Given the description of an element on the screen output the (x, y) to click on. 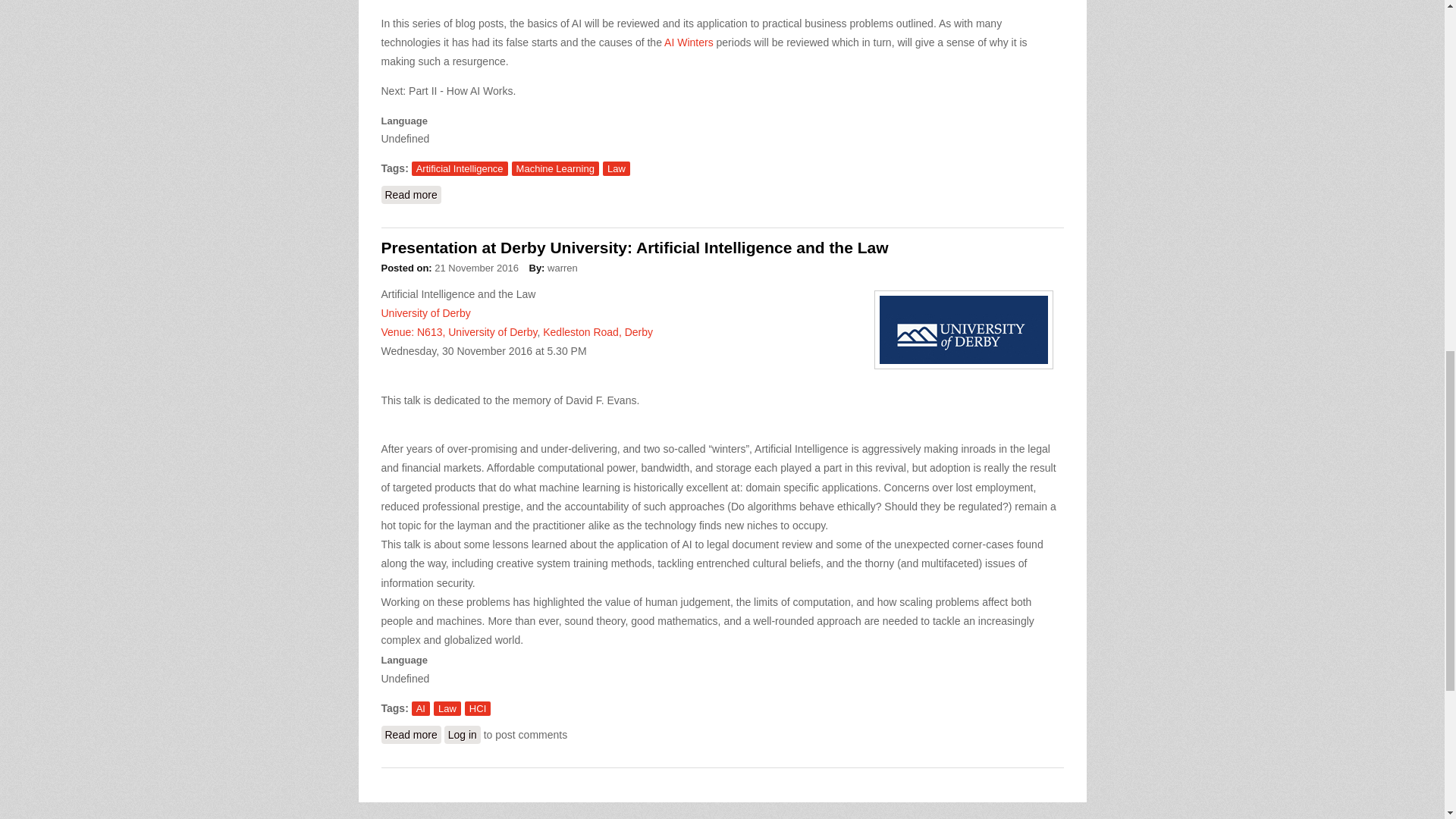
AI Winters (688, 42)
Log in (462, 734)
Law (447, 708)
University of Derby (425, 313)
Law (616, 168)
HCI (477, 708)
Machine Learning (555, 168)
AI (420, 708)
Venue: N613, (414, 331)
Artificial Intelligence (460, 168)
Kedleston Road, Derby (597, 331)
University of Derby (492, 331)
